Given the description of an element on the screen output the (x, y) to click on. 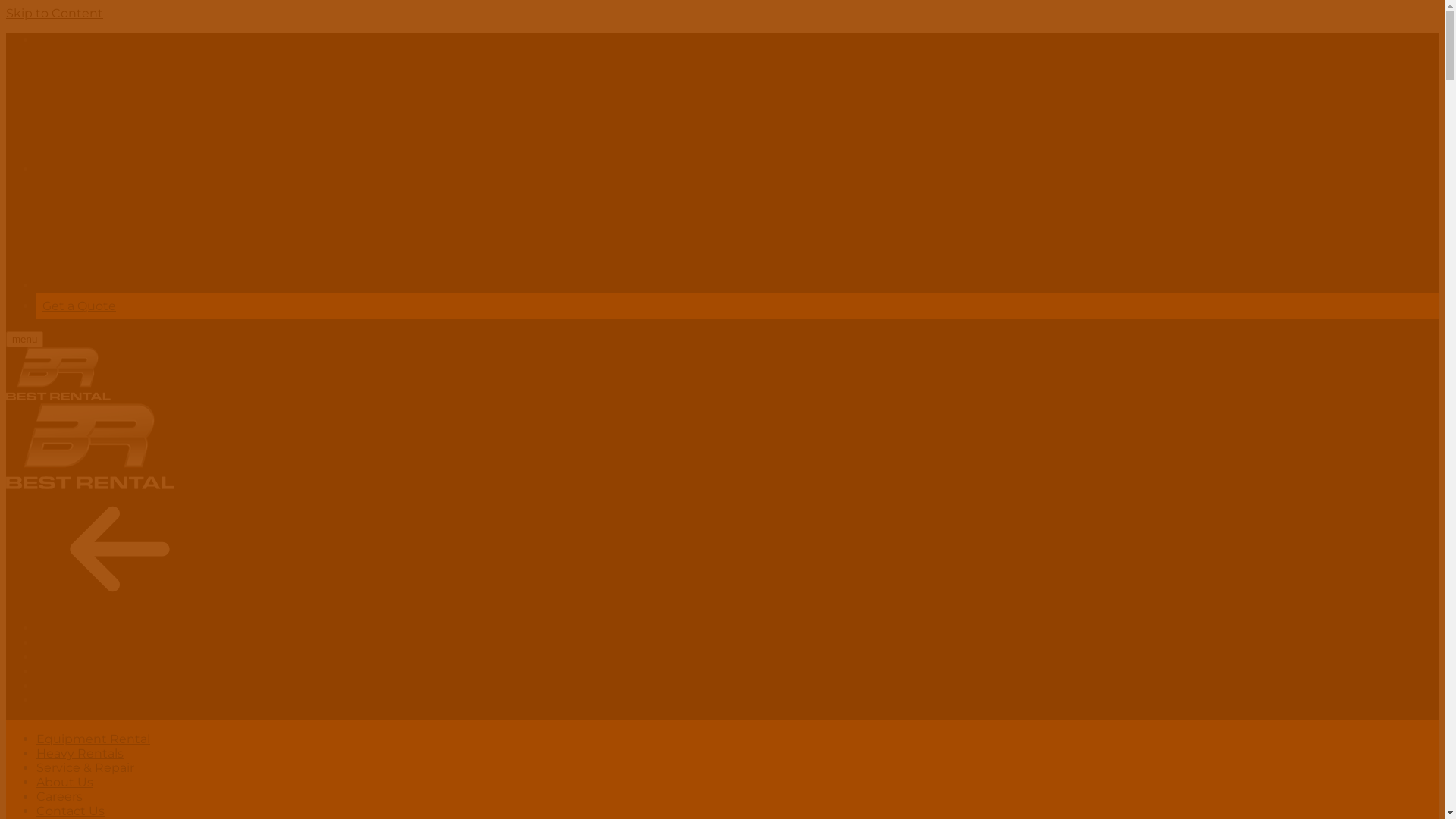
Equipment Rental Element type: text (93, 628)
menu Element type: text (24, 339)
Careers Element type: text (59, 685)
Get a Quote Element type: text (79, 305)
Heavy Rentals Element type: text (79, 642)
Equipment Rental Element type: text (93, 738)
Careers Element type: text (59, 796)
Val Caron: 705-897-2501 Element type: text (220, 285)
Service & Repair Element type: text (85, 767)
About Us Element type: text (64, 782)
Contact Us Element type: text (70, 810)
Contact Us Element type: text (70, 700)
Call Today! Element type: text (68, 39)
Skip to Content Element type: text (54, 13)
Maple: 905-303-3900 Element type: text (213, 168)
About Us Element type: text (64, 671)
Service & Repair Element type: text (85, 656)
Heavy Rentals Element type: text (79, 753)
